Given the description of an element on the screen output the (x, y) to click on. 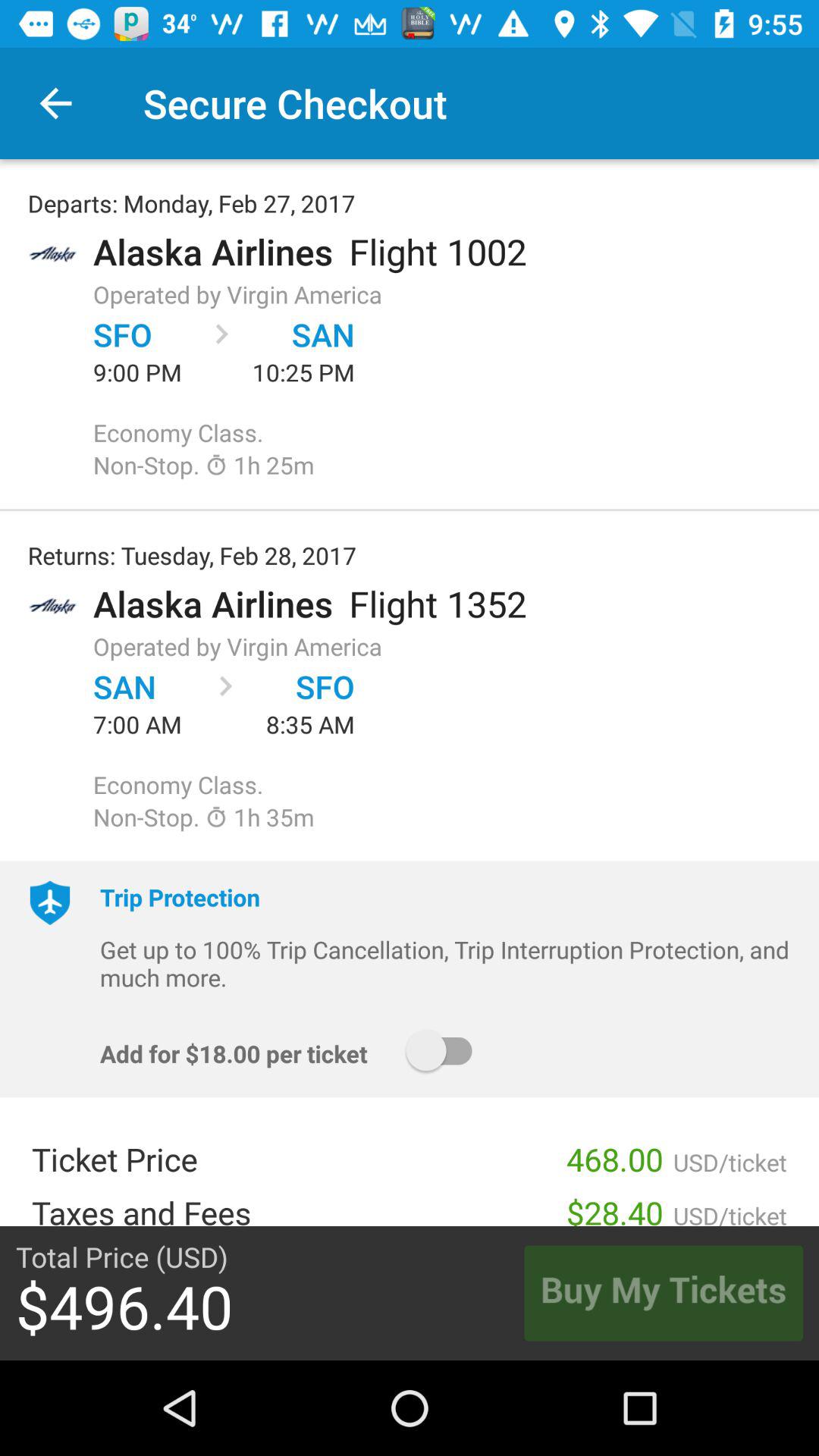
press the icon next to the add for 18 icon (446, 1050)
